Given the description of an element on the screen output the (x, y) to click on. 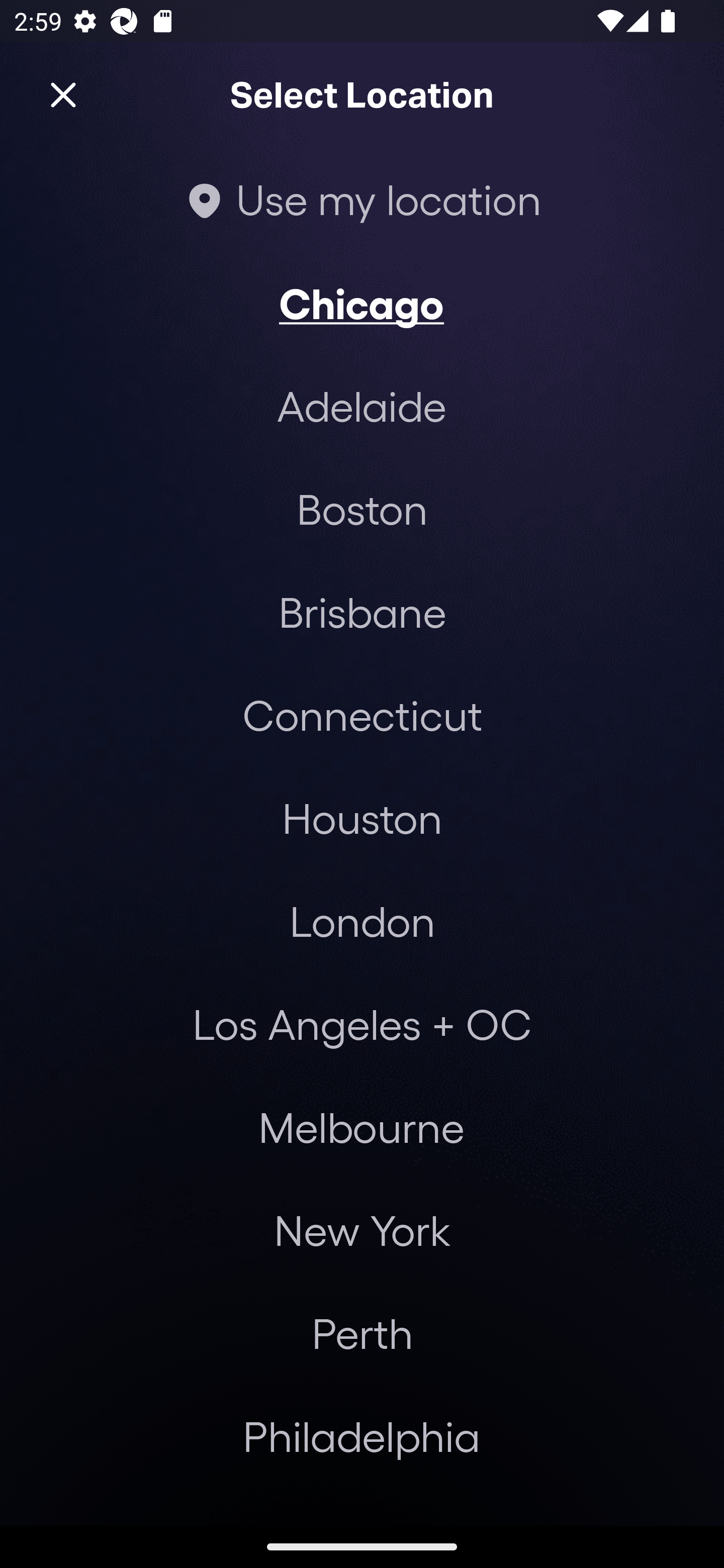
Close (62, 95)
   Use my location (362, 198)
Chicago (361, 302)
Adelaide (361, 405)
Boston (361, 508)
Brisbane (361, 611)
Connecticut (361, 714)
Houston (361, 817)
London (361, 920)
Los Angeles + OC (361, 1023)
Melbourne (361, 1127)
New York (361, 1230)
Perth (361, 1332)
Philadelphia (361, 1436)
